Given the description of an element on the screen output the (x, y) to click on. 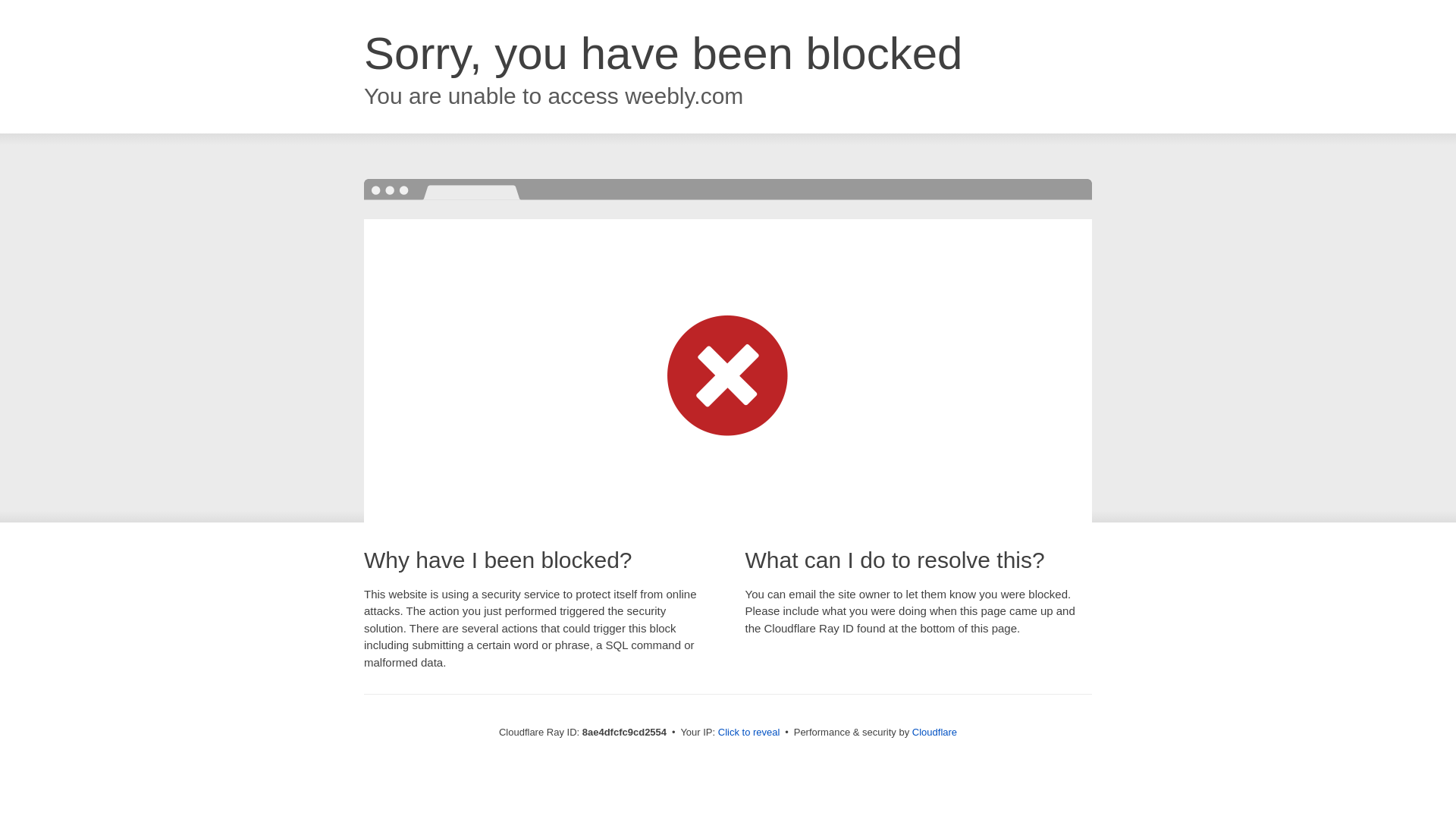
Click to reveal (748, 732)
Cloudflare (934, 731)
